Given the description of an element on the screen output the (x, y) to click on. 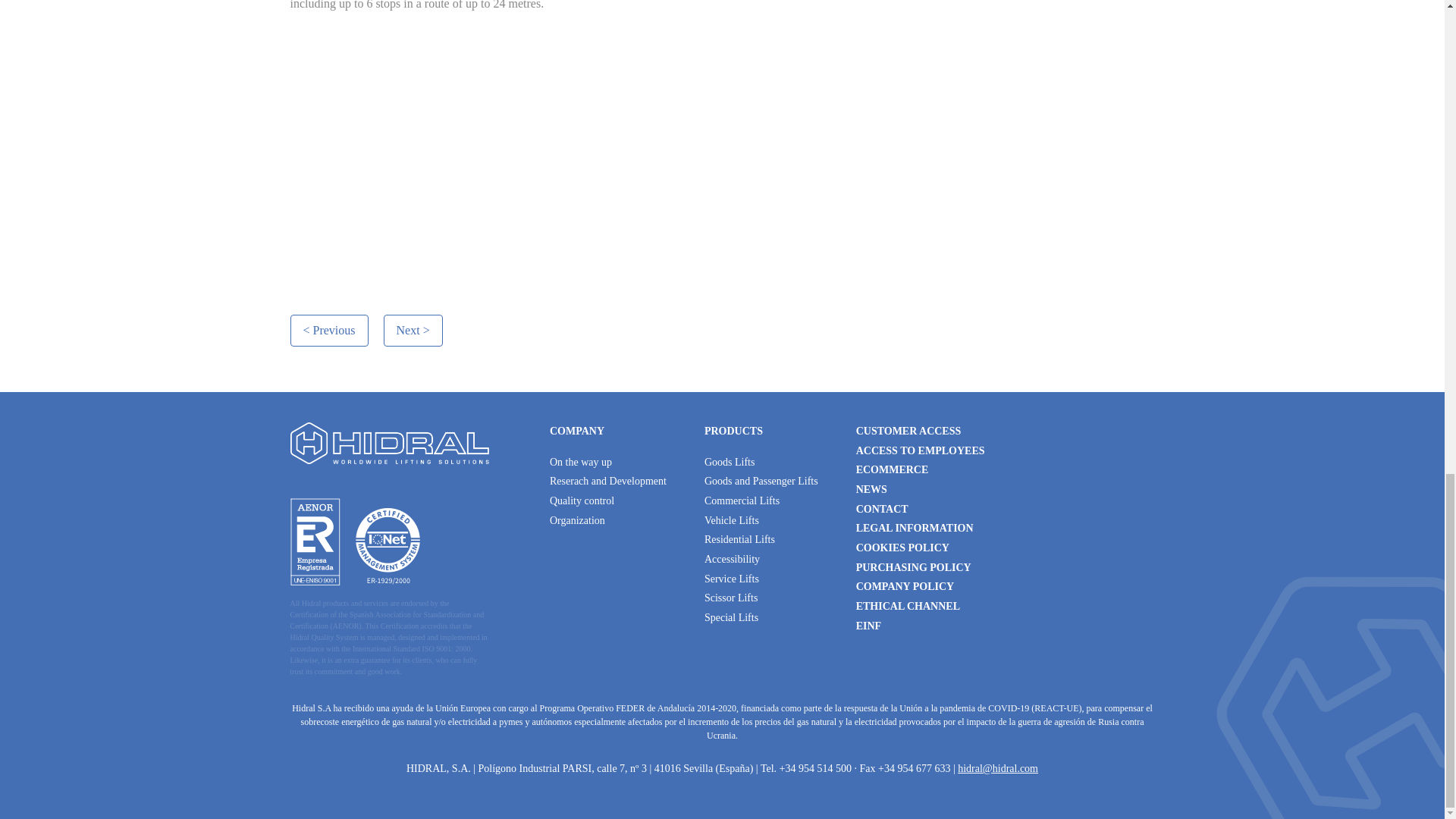
YouTube video player (501, 144)
